Given the description of an element on the screen output the (x, y) to click on. 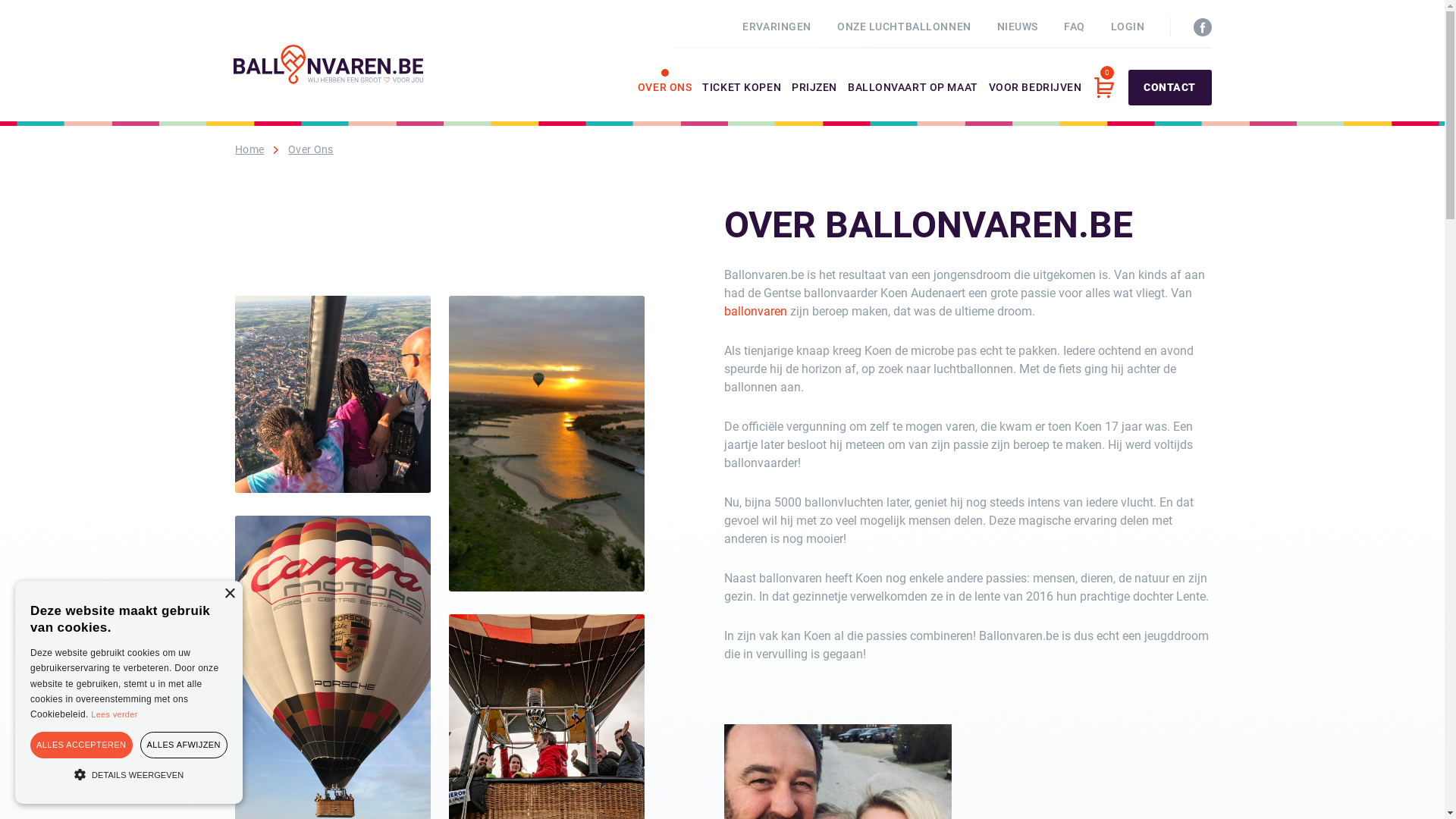
TICKET KOPEN Element type: text (741, 101)
Home Element type: text (249, 149)
0 Element type: text (1103, 87)
FAQ Element type: text (1074, 26)
Over Ons Element type: text (310, 149)
LOGIN Element type: text (1127, 26)
CONTACT Element type: text (1169, 87)
BALLONVAART OP MAAT Element type: text (912, 101)
PRIJZEN Element type: text (814, 101)
Lees verder Element type: text (114, 713)
ONZE LUCHTBALLONNEN Element type: text (904, 26)
VOOR BEDRIJVEN Element type: text (1035, 101)
logo Element type: hover (328, 64)
OVER ONS Element type: text (664, 101)
NIEUWS Element type: text (1017, 26)
ballonvaren Element type: text (755, 311)
ERVARINGEN Element type: text (776, 26)
